Given the description of an element on the screen output the (x, y) to click on. 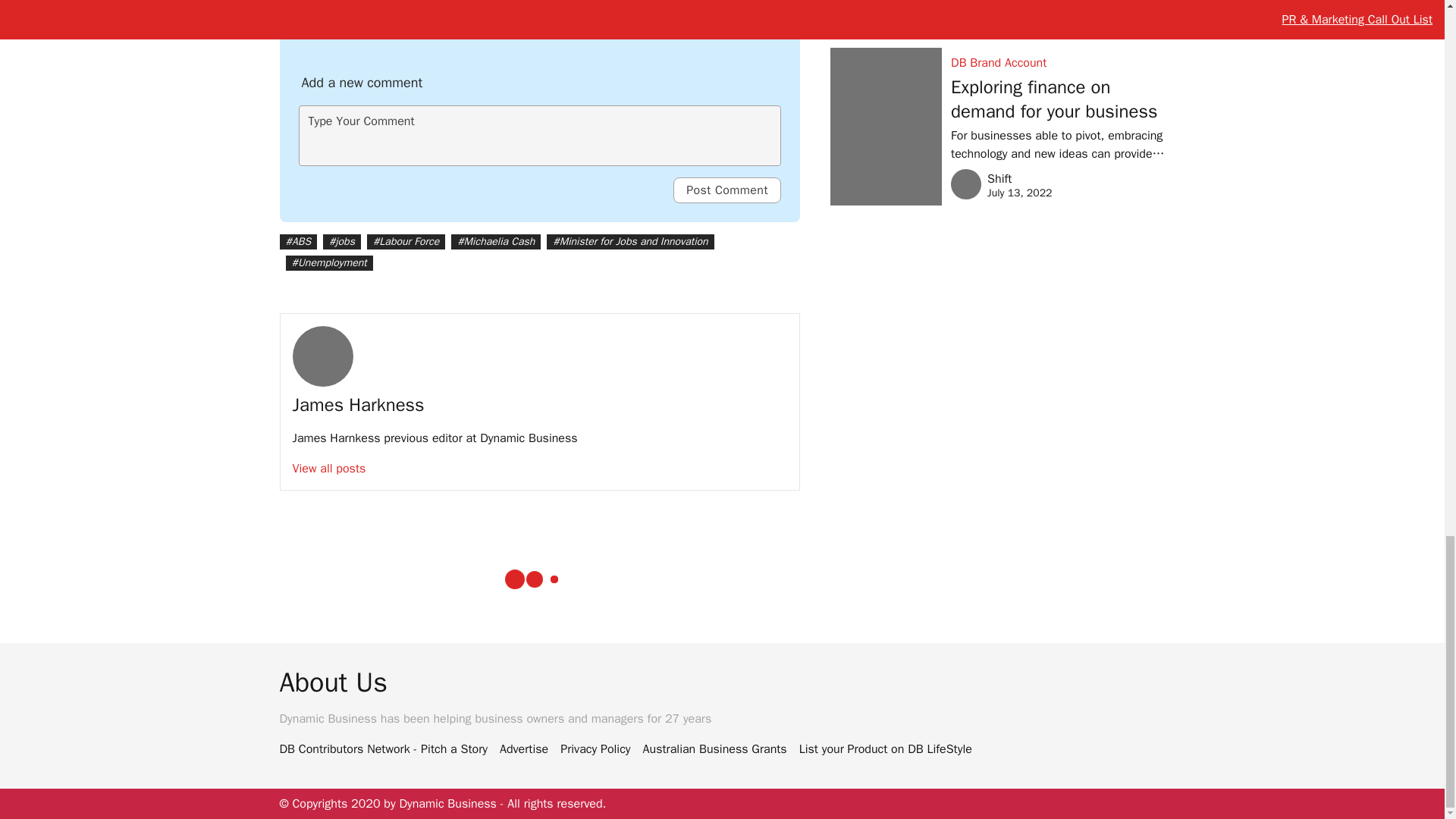
Post Comment (726, 190)
View all posts (329, 468)
